Given the description of an element on the screen output the (x, y) to click on. 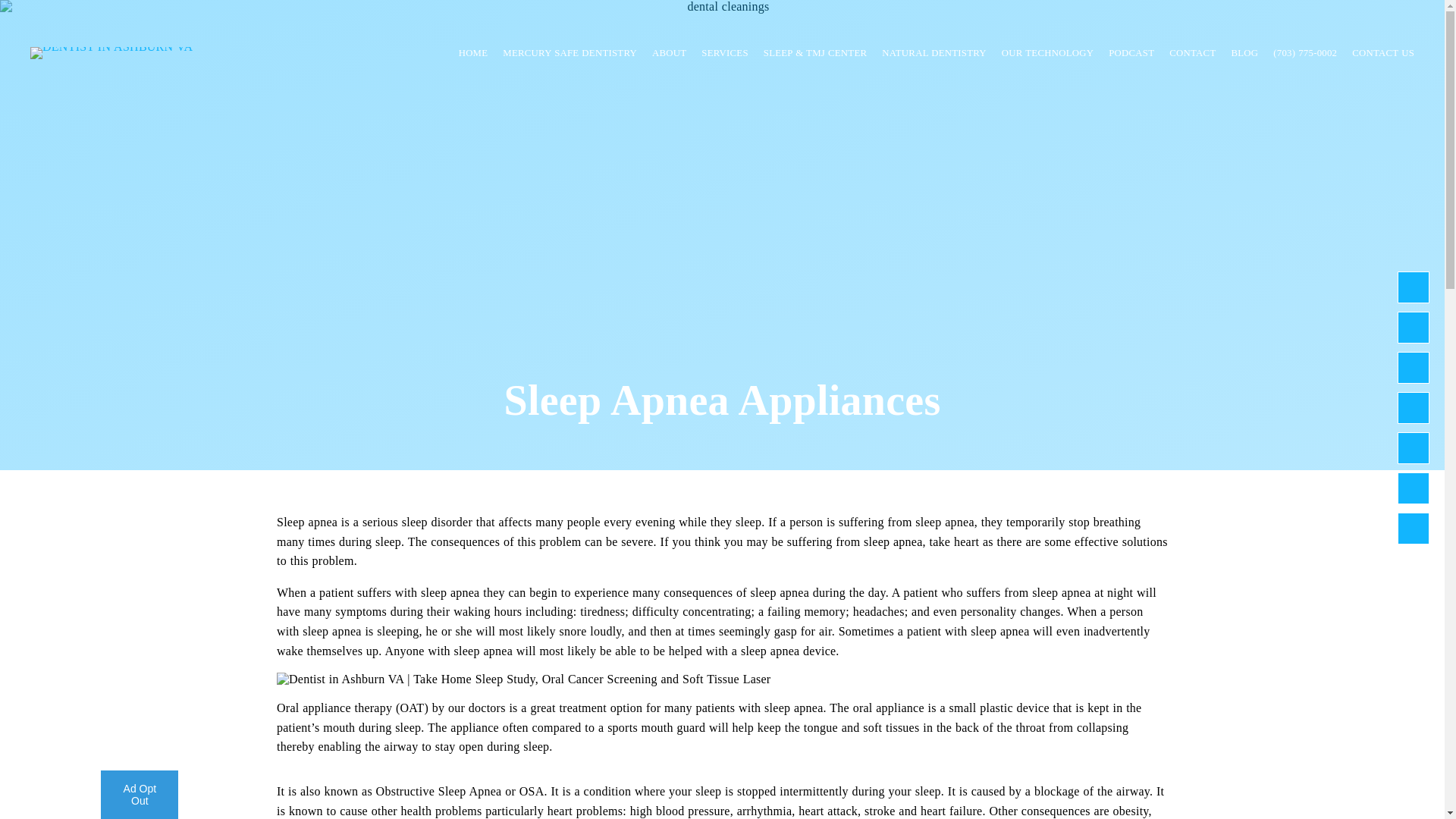
Instagram (1413, 368)
YouTube (1413, 488)
Facebook (1413, 287)
Ad Opt Out (138, 794)
LinkedIn (1413, 448)
Blog (1413, 528)
Twitter (1413, 408)
Google (1413, 327)
